Given the description of an element on the screen output the (x, y) to click on. 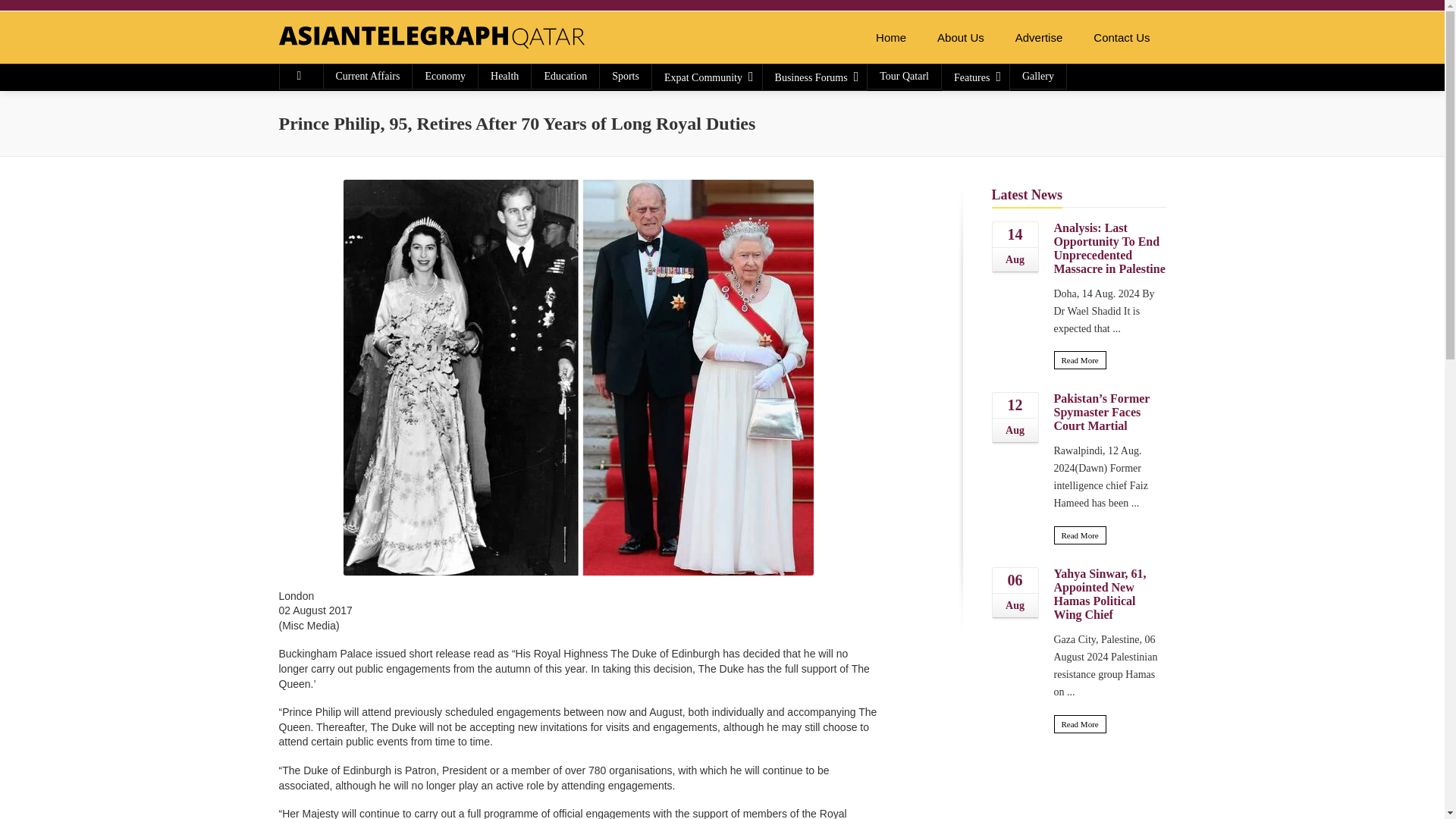
Education (564, 76)
Expat Community (706, 77)
Home (890, 37)
Gallery (1037, 76)
Features (975, 77)
About Us (959, 37)
Health (505, 76)
Advertise (1039, 37)
Sports (624, 76)
